Given the description of an element on the screen output the (x, y) to click on. 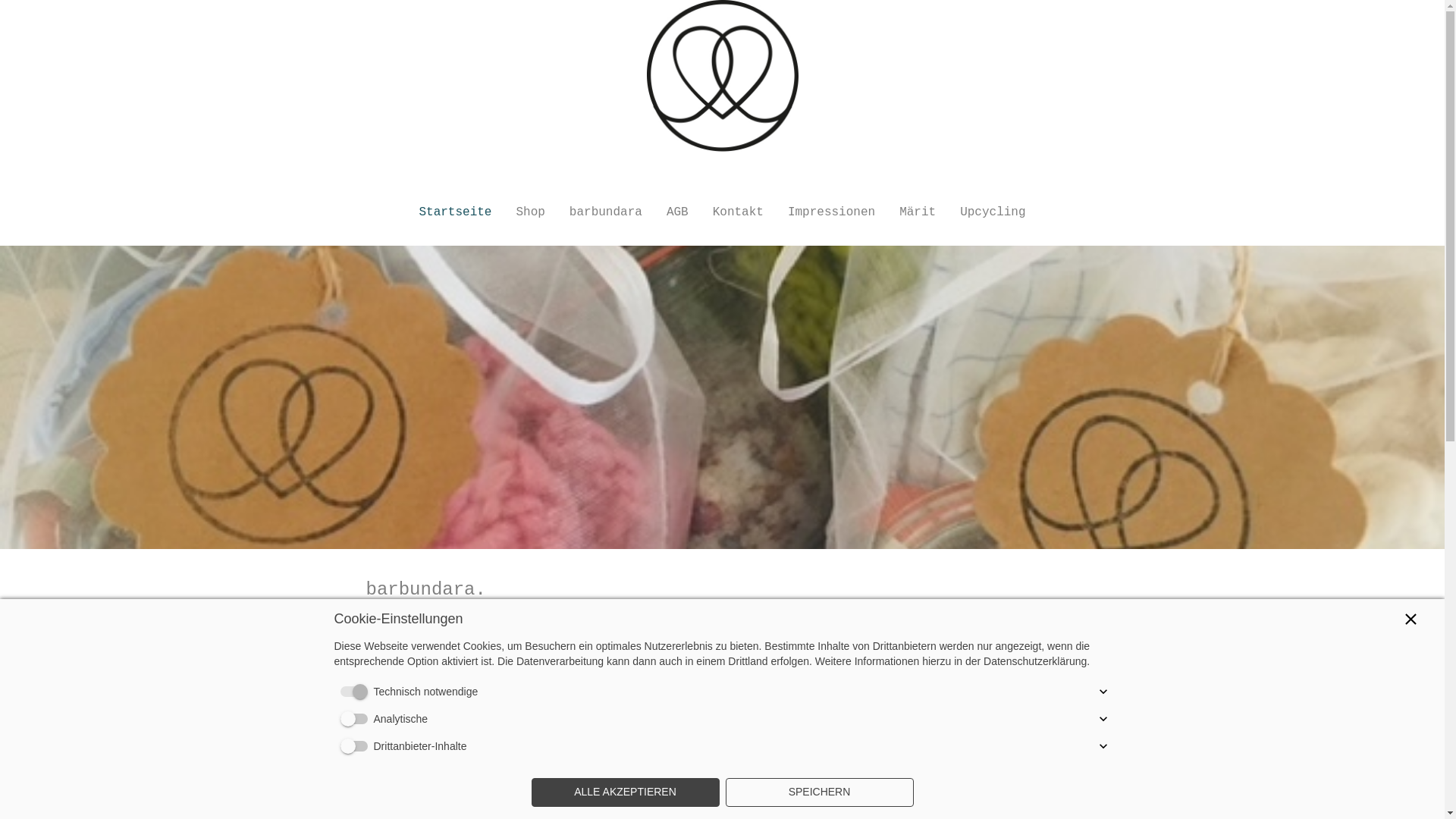
Kontakt Element type: text (737, 211)
barbundara Element type: text (605, 211)
Shop Element type: text (529, 211)
ALLE AKZEPTIEREN Element type: text (624, 792)
SPEICHERN Element type: text (818, 792)
AGB Element type: text (677, 211)
Upcycling Element type: text (998, 211)
Startseite Element type: text (448, 211)
Impressionen Element type: text (831, 211)
